Given the description of an element on the screen output the (x, y) to click on. 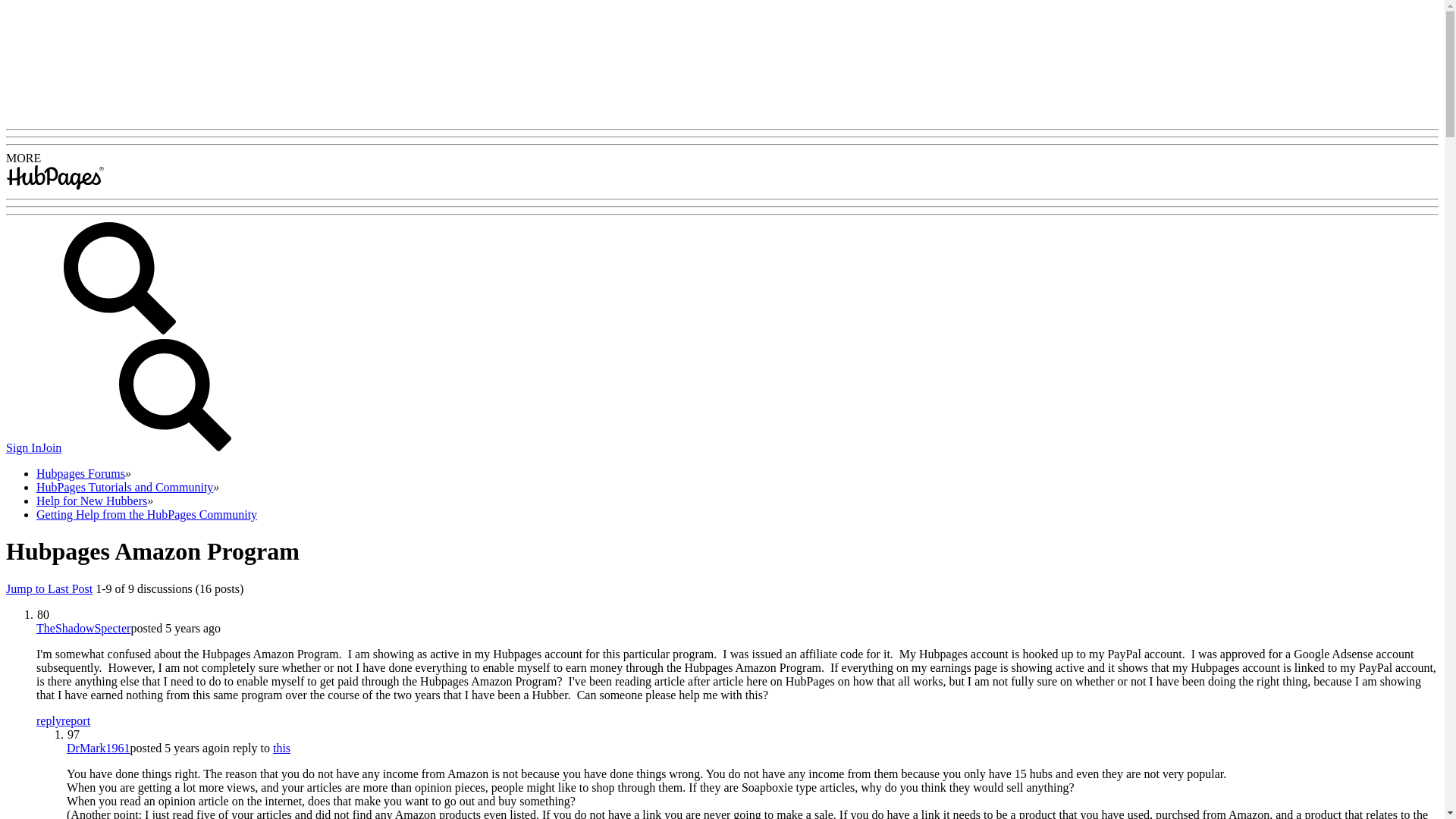
HubPages Tutorials and Community (124, 486)
report (75, 720)
Hubpages Forums (80, 472)
HubPages (54, 185)
HubPages (54, 177)
Help for New Hubbers (91, 500)
Hubber Score (73, 734)
HubPages (54, 185)
reply (48, 720)
this (281, 748)
Jump to Last Post (49, 588)
TheShadowSpecter (83, 627)
Join (52, 447)
